Given the description of an element on the screen output the (x, y) to click on. 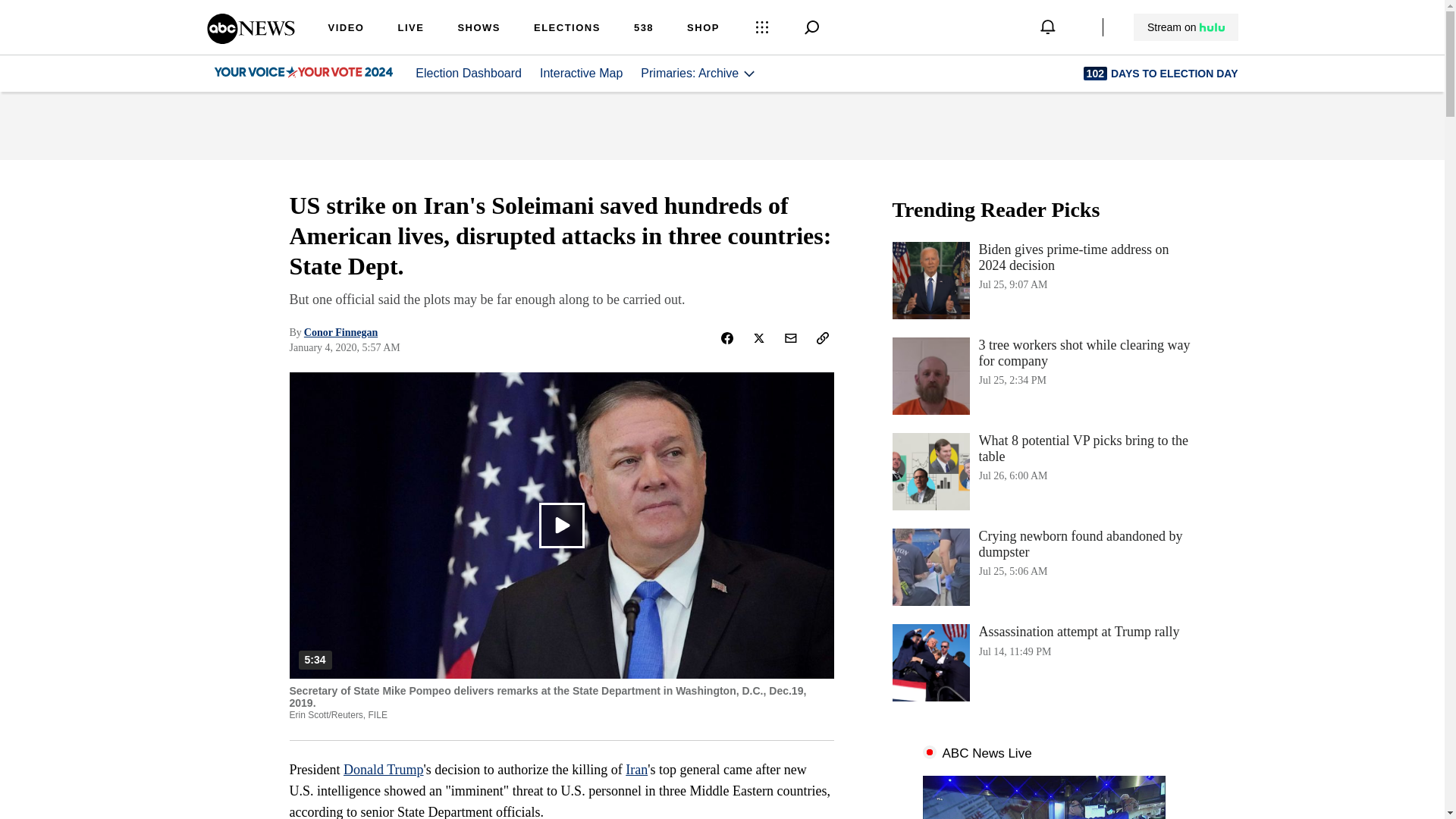
ABC News (250, 38)
Donald Trump (383, 769)
Stream on (1185, 27)
Iran (636, 769)
SHOWS (478, 28)
Conor Finnegan (340, 332)
ELECTIONS (1043, 567)
SHOP (566, 28)
Interactive Map (1043, 471)
Election Dashboard (1043, 662)
